Given the description of an element on the screen output the (x, y) to click on. 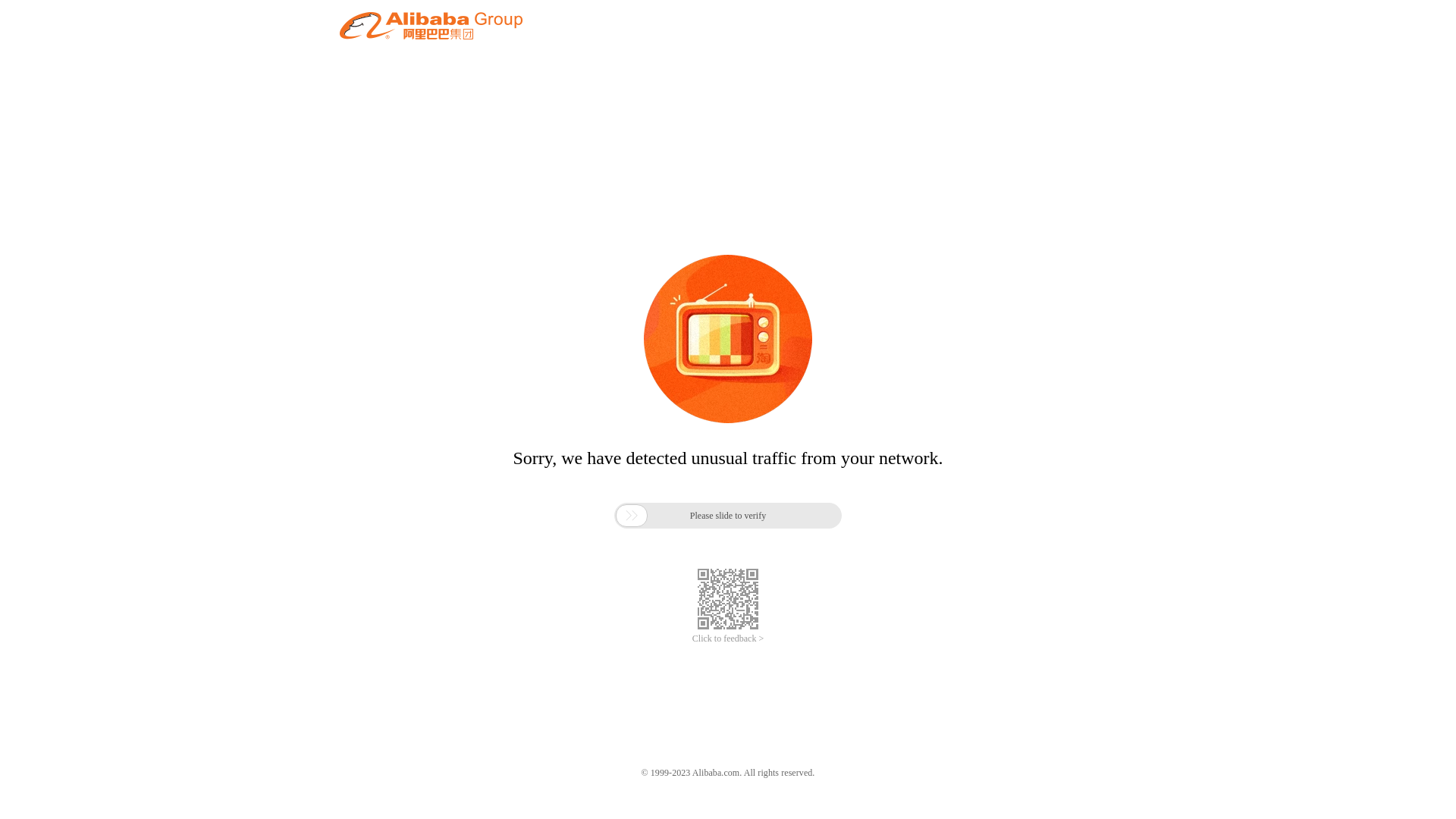
Click to feedback > Element type: text (727, 638)
